Given the description of an element on the screen output the (x, y) to click on. 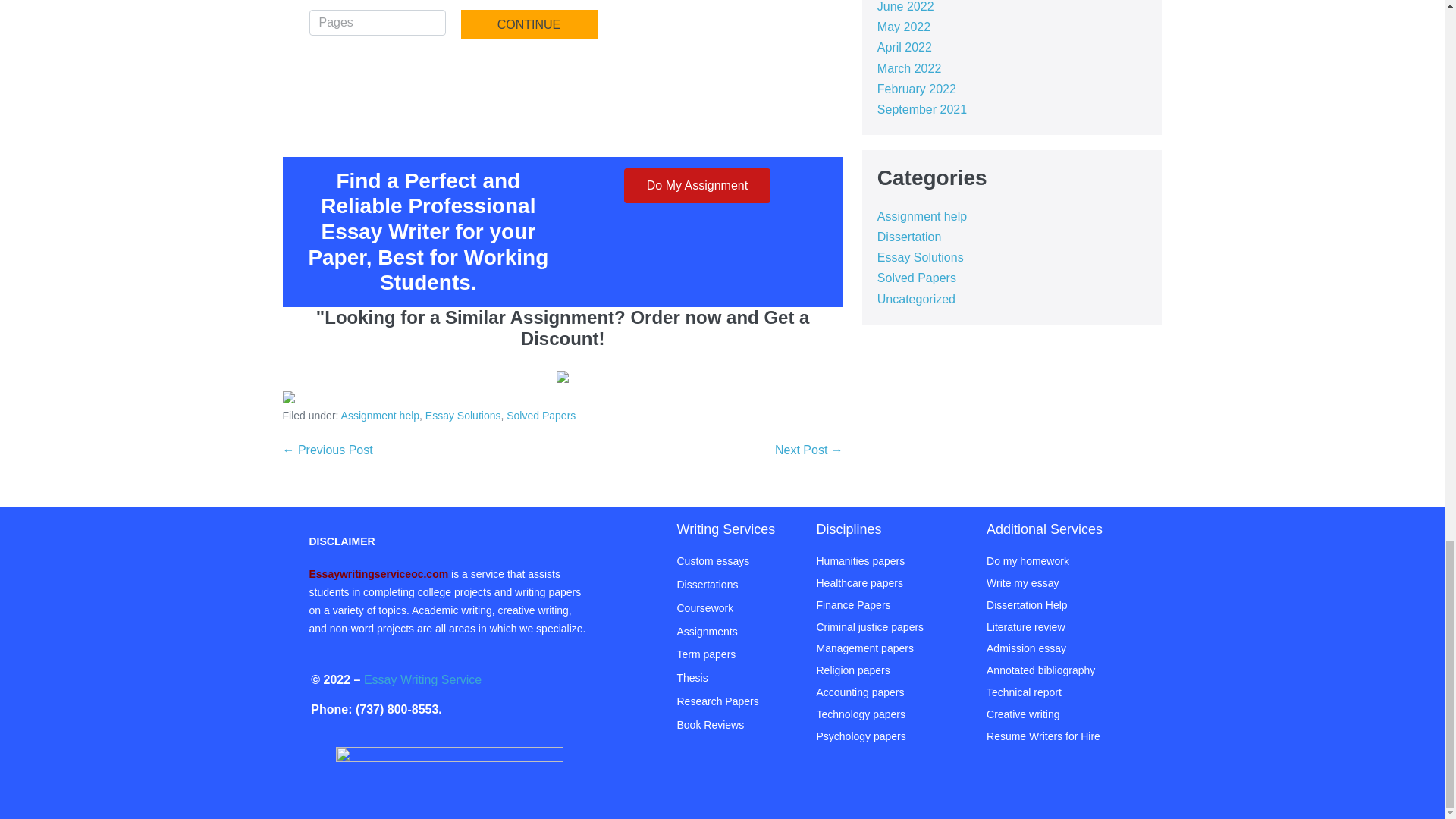
Solved Papers (540, 415)
Essay Solutions (462, 415)
Assignment help (380, 415)
CONTINUE (528, 24)
Do My Assignment (697, 185)
